Given the description of an element on the screen output the (x, y) to click on. 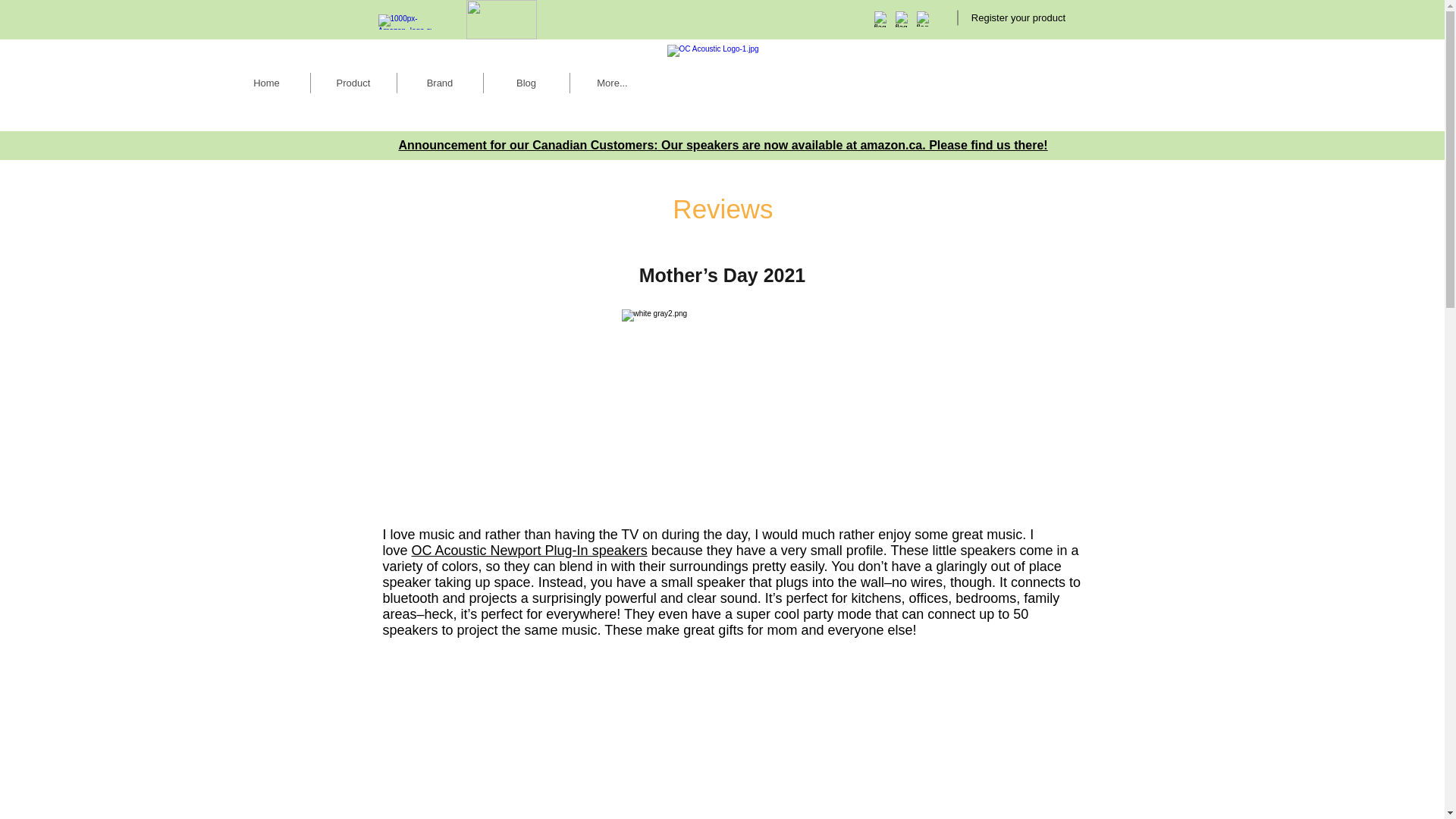
Product (353, 82)
OC Acoustic Newport Plug-In speakers (529, 549)
Register your product (1018, 18)
Blog (526, 82)
Brand (440, 82)
Walmart-Logo.png (500, 19)
Home (265, 82)
